Given the description of an element on the screen output the (x, y) to click on. 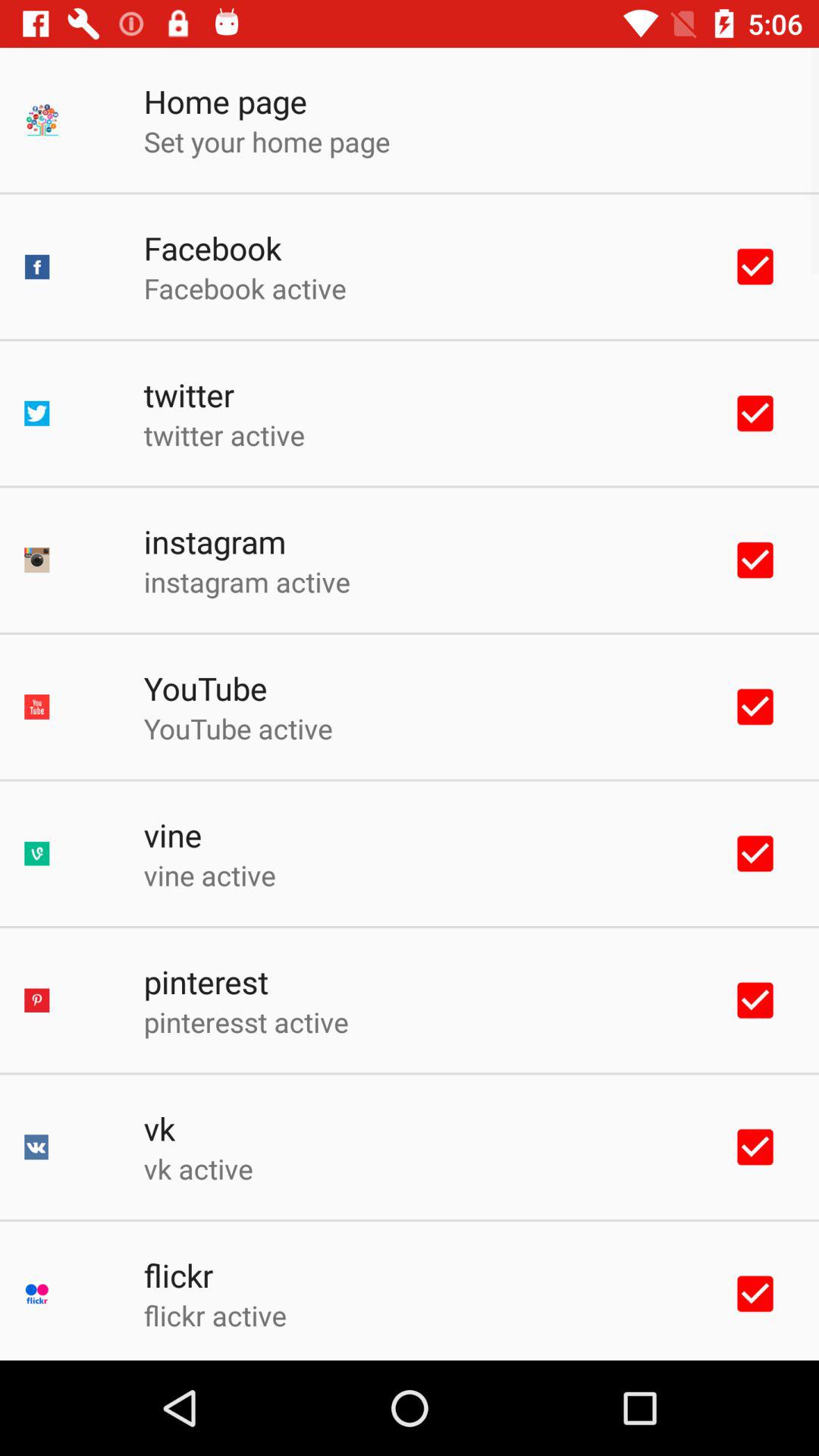
click twitter active (223, 434)
